Given the description of an element on the screen output the (x, y) to click on. 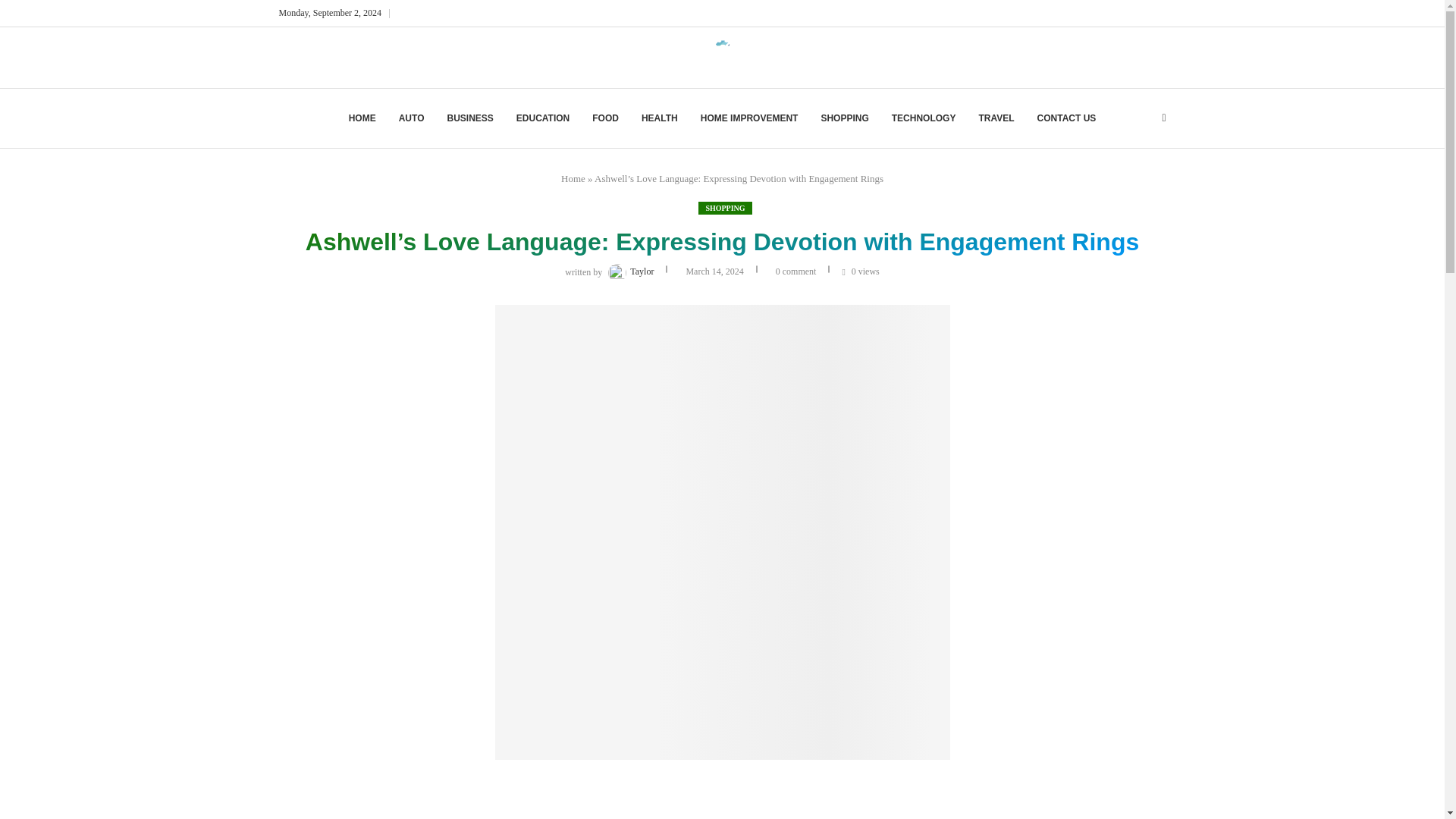
SHOPPING (844, 118)
EDUCATION (542, 118)
BUSINESS (469, 118)
Search (17, 7)
HOME IMPROVEMENT (748, 118)
TECHNOLOGY (923, 118)
CONTACT US (1066, 118)
